Given the description of an element on the screen output the (x, y) to click on. 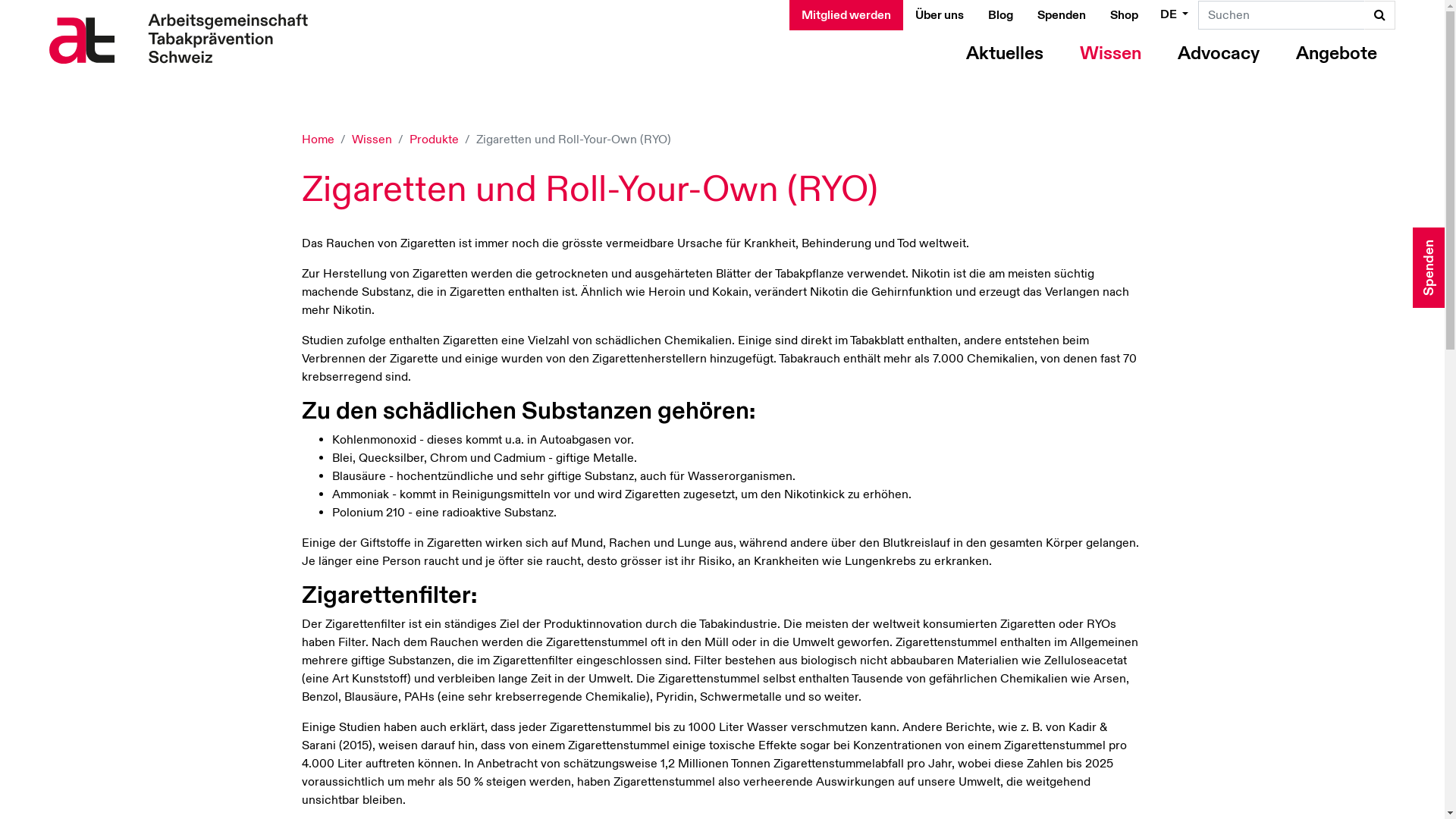
Advocacy Element type: text (1218, 53)
Home Element type: text (317, 139)
Angebote Element type: text (1336, 53)
Produkte Element type: text (433, 139)
Blog Element type: text (1000, 15)
Mitglied werden Element type: text (846, 15)
DE Element type: text (1174, 14)
Wissen Element type: text (371, 139)
Shop Element type: text (1124, 15)
Aktuelles Element type: text (1004, 53)
Spenden Element type: text (1061, 15)
Wissen Element type: text (1110, 53)
